Given the description of an element on the screen output the (x, y) to click on. 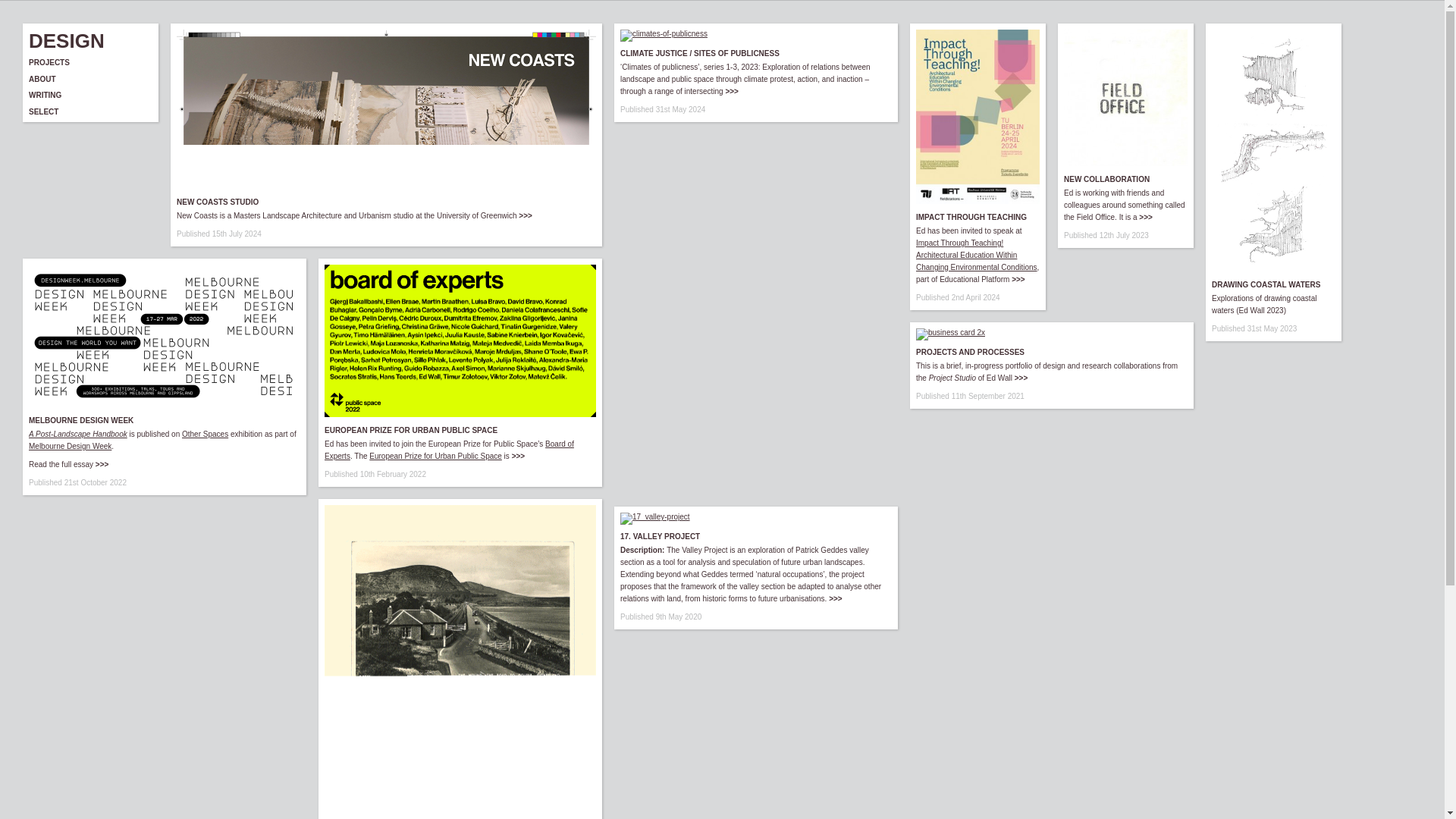
PROJECTS (49, 62)
Melbourne Design Week (70, 446)
Other Spaces (205, 433)
Board of Experts (448, 449)
melbourne-design-week-default-sharing-2022 (164, 335)
SELECT (43, 111)
A Post-Landscape Handbook (78, 433)
WRITING (45, 94)
Writing (45, 94)
Home (49, 62)
European Prize for Urban Public Space (435, 456)
business card 2x (950, 334)
ABOUT (42, 79)
climates-of-publicness (663, 35)
